Given the description of an element on the screen output the (x, y) to click on. 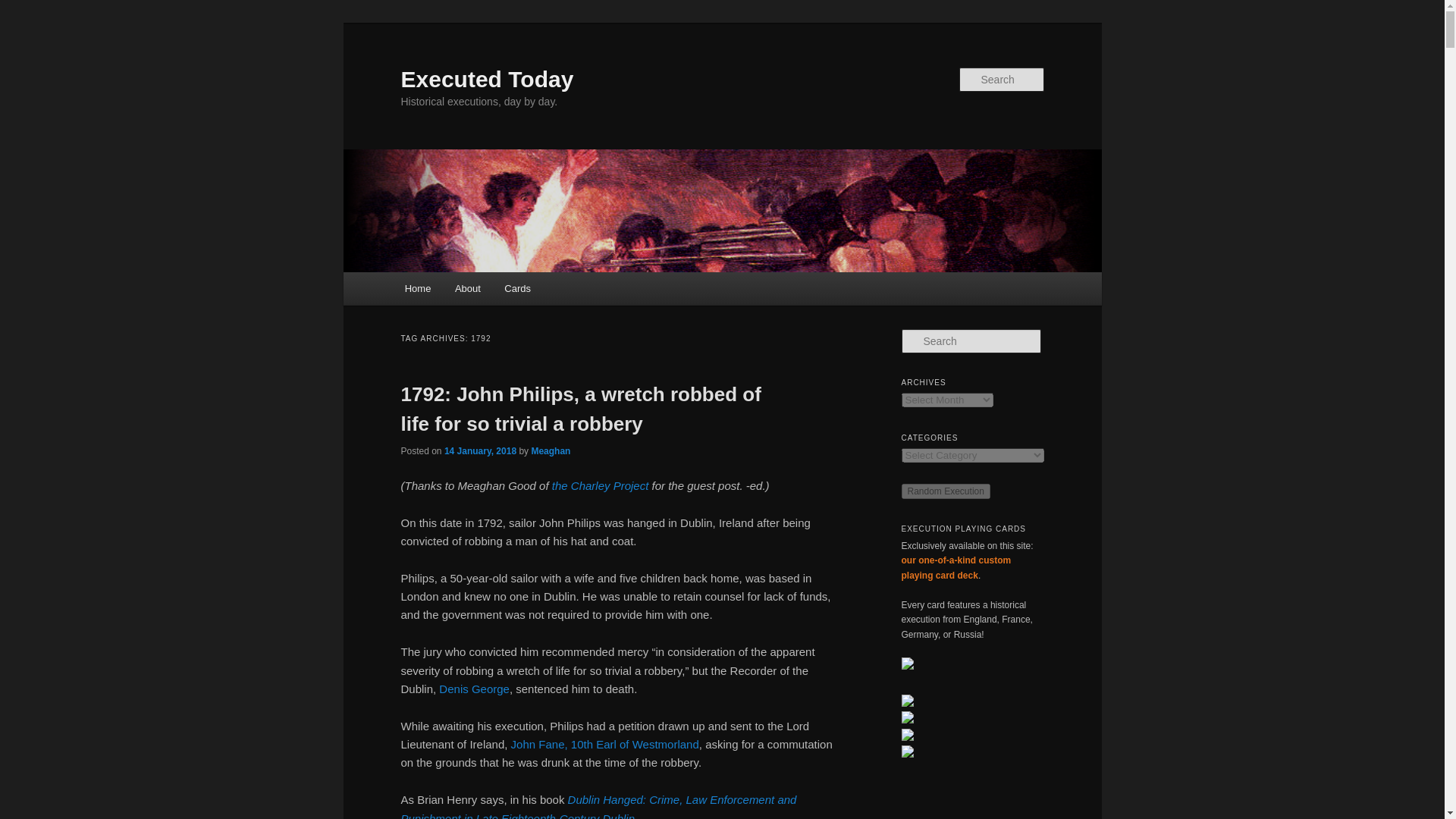
Denis George (474, 688)
Search (24, 8)
Meaghan (550, 450)
2:01 pm (480, 450)
Cards (518, 287)
the Charley Project (600, 485)
John Fane, 10th Earl of Westmorland (604, 744)
About (467, 287)
Random Execution (945, 491)
Executed Today (486, 78)
View all posts by Meaghan (550, 450)
14 January, 2018 (480, 450)
